Given the description of an element on the screen output the (x, y) to click on. 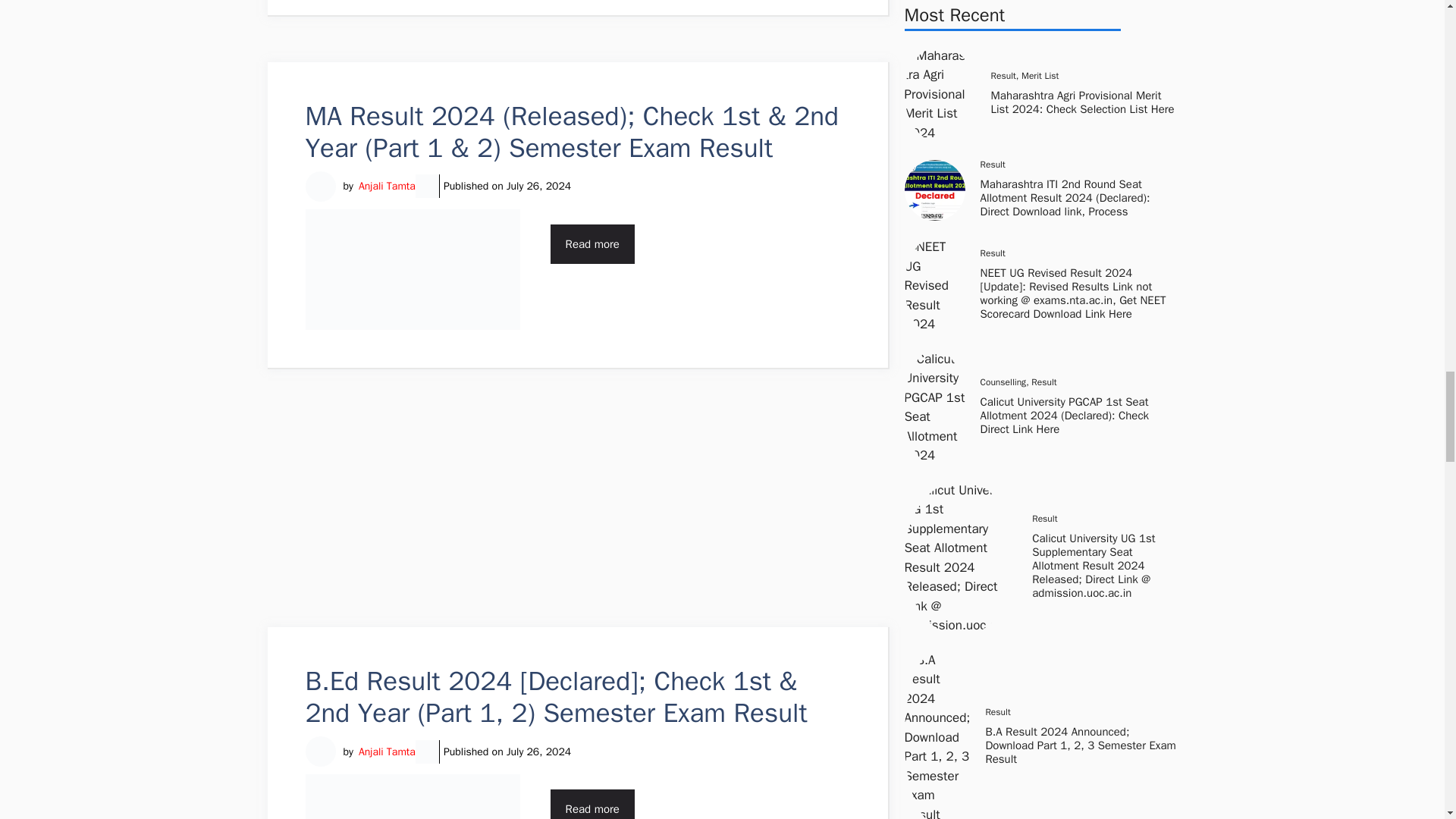
Anjali Tamta (386, 751)
Anjali Tamta (386, 186)
Read more (592, 244)
